Given the description of an element on the screen output the (x, y) to click on. 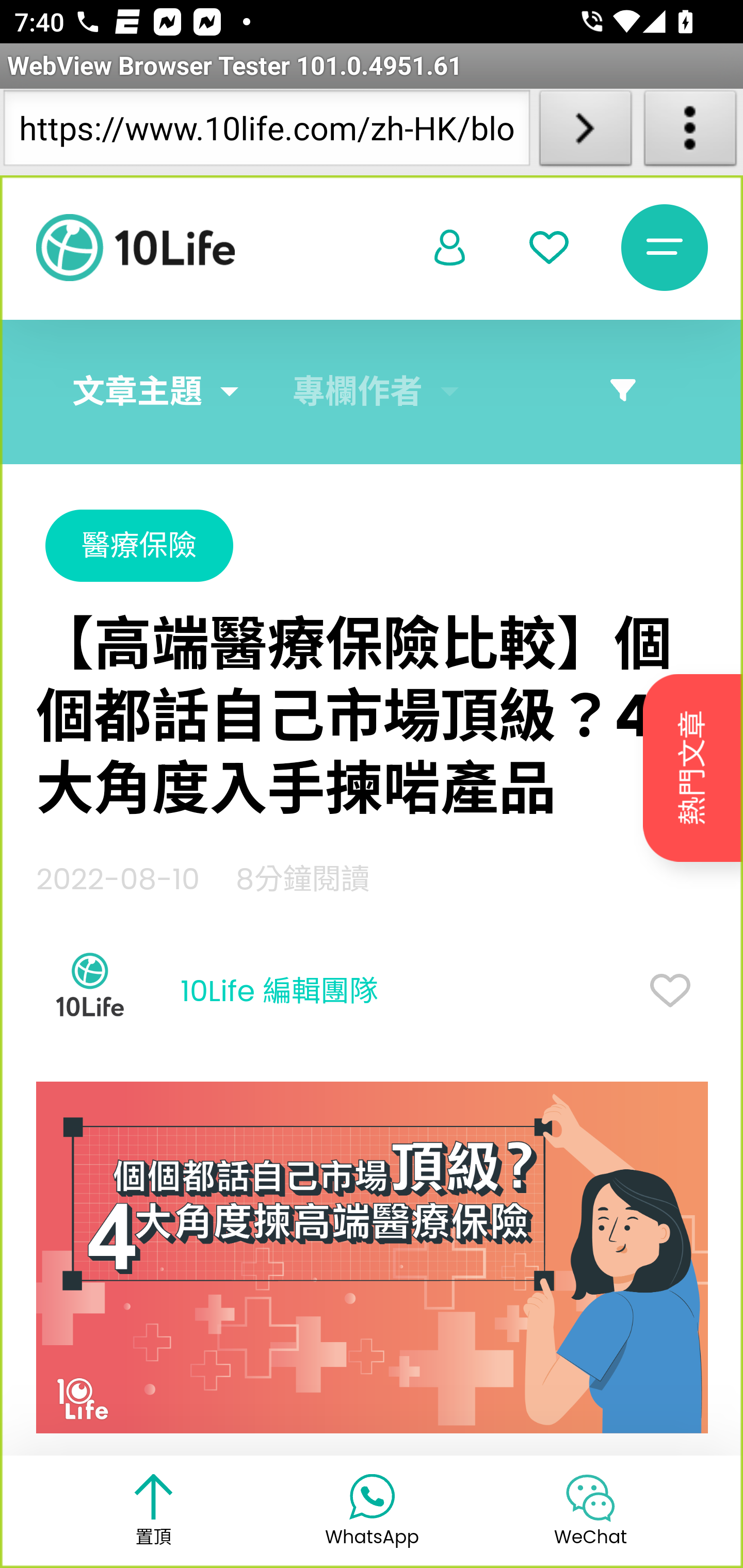
Load URL (585, 132)
About WebView (690, 132)
tenlife-normal-logo.43ea159 (135, 247)
javascript:void(0); profile_default.520744e (449, 248)
javascript:void(0); favourite_default.17e2042 (549, 247)
文章主題 (137, 391)
專欄作者 (358, 391)
10Life Logo 10Life 編輯團隊 10Life Logo 10Life 編輯團隊 (207, 992)
Whatsapp icon (371, 1494)
WeChat icon (589, 1497)
